Given the description of an element on the screen output the (x, y) to click on. 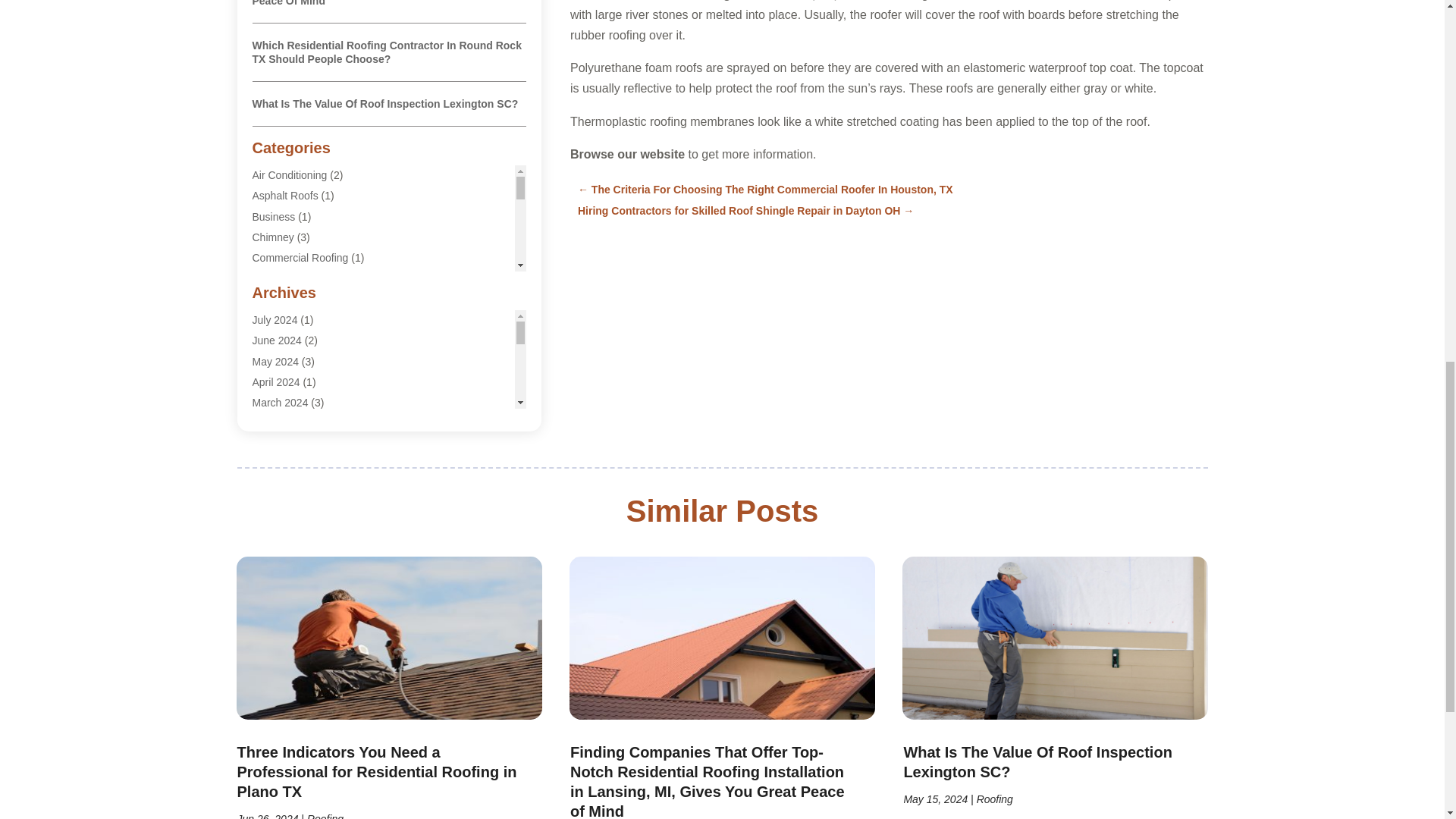
Gutter Cleaning Service (308, 463)
Business (273, 216)
Air Conditioning (288, 174)
Fence (266, 422)
Commercial Roofing (299, 257)
Construction (281, 277)
Home Improvement (298, 525)
Gutter Repair (283, 484)
Home Inspection (291, 546)
Asphalt Roofs (284, 195)
Garages (271, 443)
Pool Cleaning Service (303, 567)
Copper Roof (281, 340)
What Is The Value Of Roof Inspection Lexington SC? (384, 103)
Custom Home Builder (303, 360)
